Given the description of an element on the screen output the (x, y) to click on. 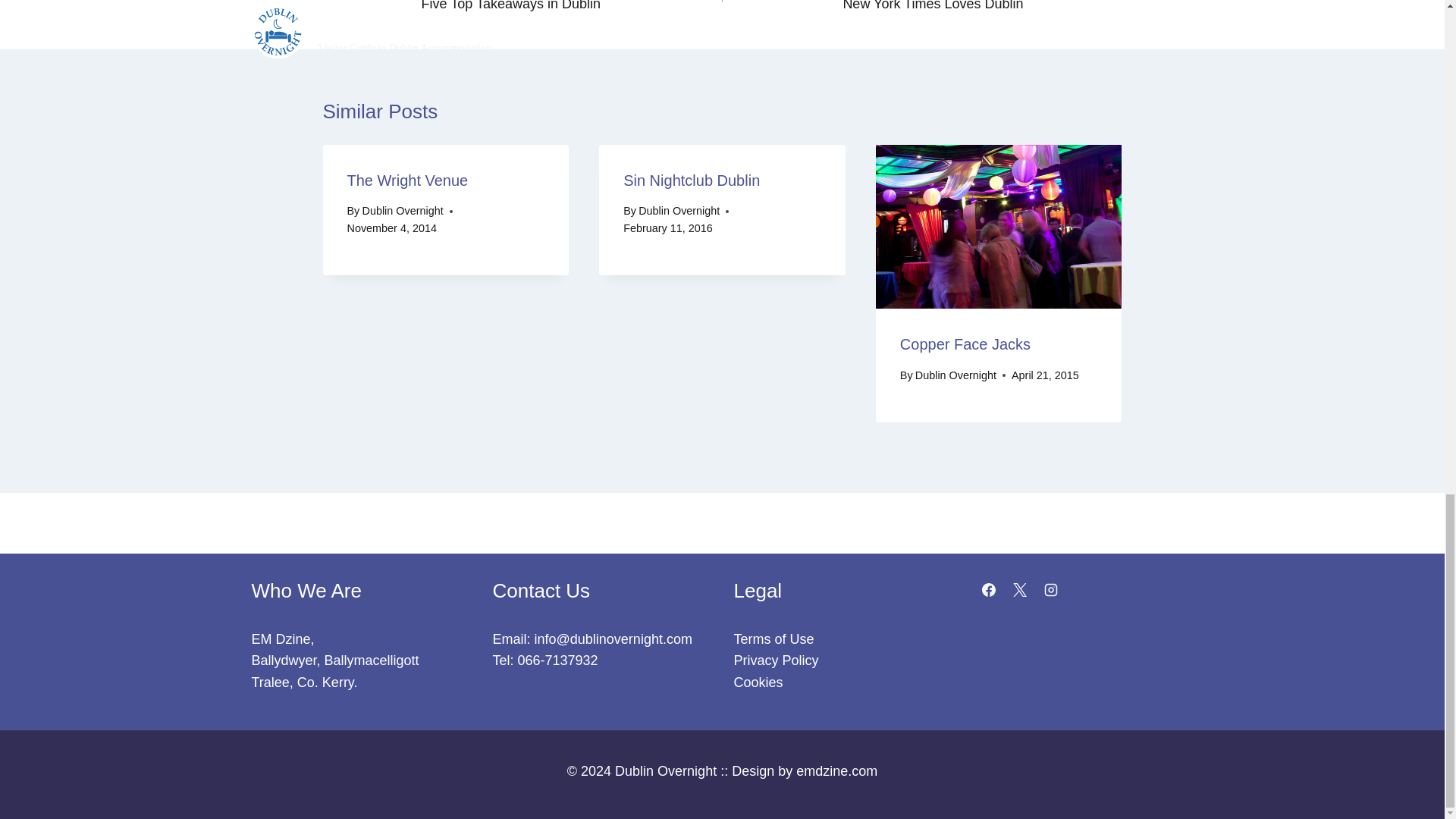
Sin Nightclub Dublin (691, 180)
The Wright Venue (572, 7)
Dublin Overnight (407, 180)
